Given the description of an element on the screen output the (x, y) to click on. 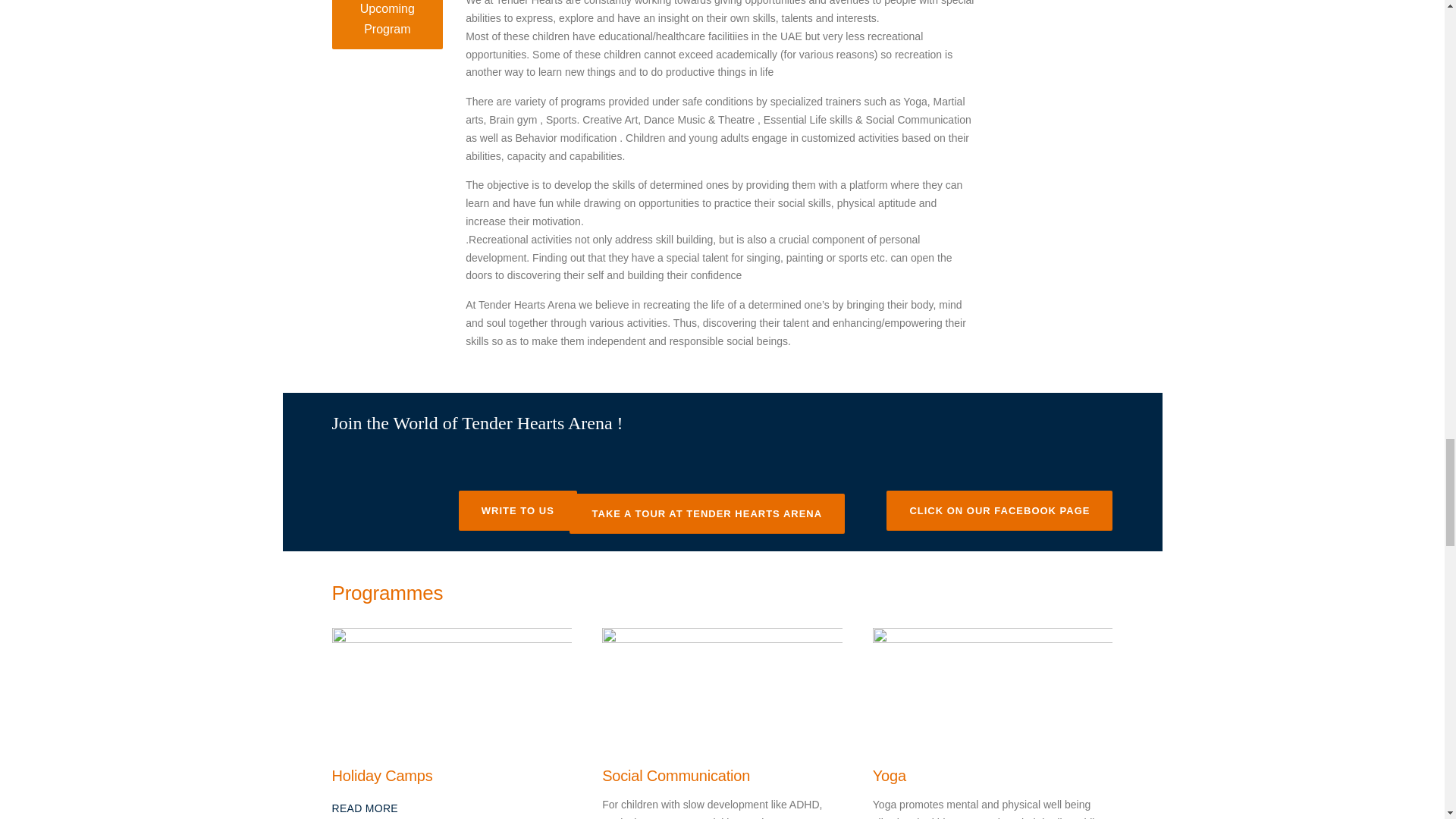
Click On our Facebook Page (999, 510)
Holiday Camps (451, 686)
Write to us (517, 510)
Social Communication (722, 686)
Take a Tour at Tender Hearts Arena (707, 513)
Holiday Camps (364, 808)
Yoga (992, 686)
